Given the description of an element on the screen output the (x, y) to click on. 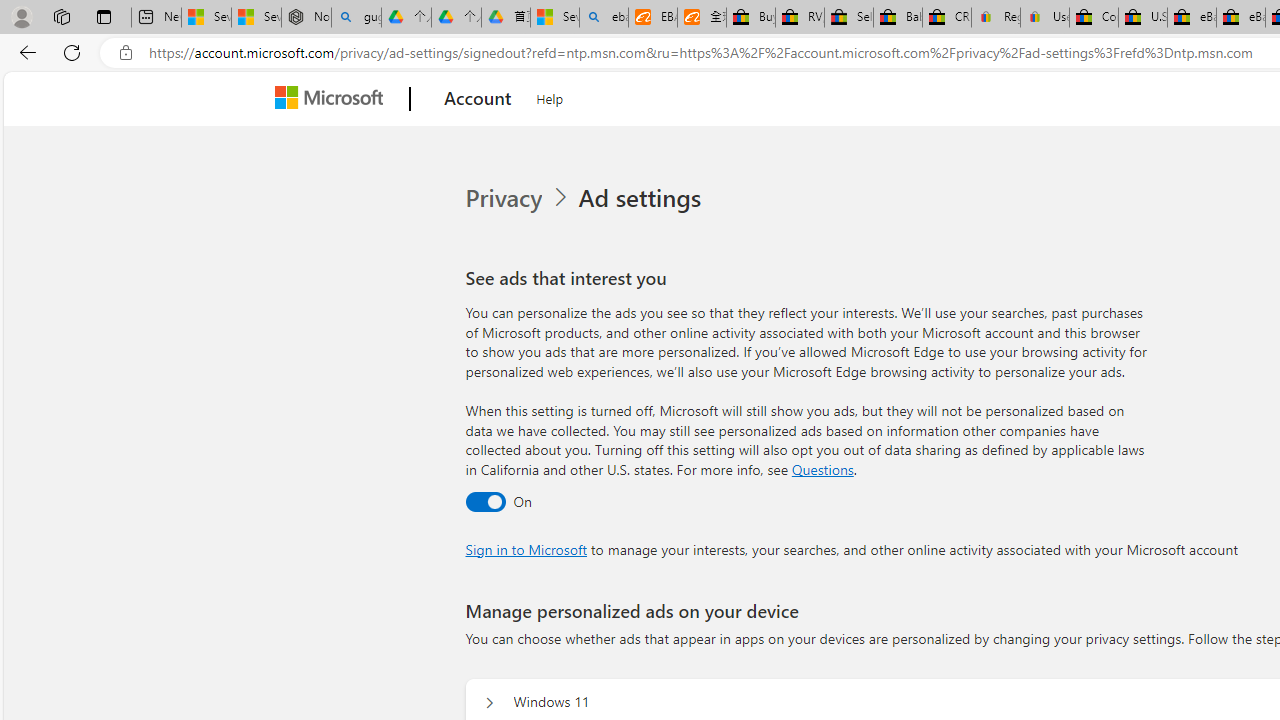
Baby Keepsakes & Announcements for sale | eBay (897, 17)
Ad settings toggle (484, 501)
Consumer Health Data Privacy Policy - eBay Inc. (1093, 17)
Account (477, 99)
Help (550, 96)
Privacy (505, 197)
Sign in to Microsoft (525, 548)
Manage personalized ads on your device Windows 11 (489, 702)
Go to Questions section (822, 468)
Buy Auto Parts & Accessories | eBay (750, 17)
